Given the description of an element on the screen output the (x, y) to click on. 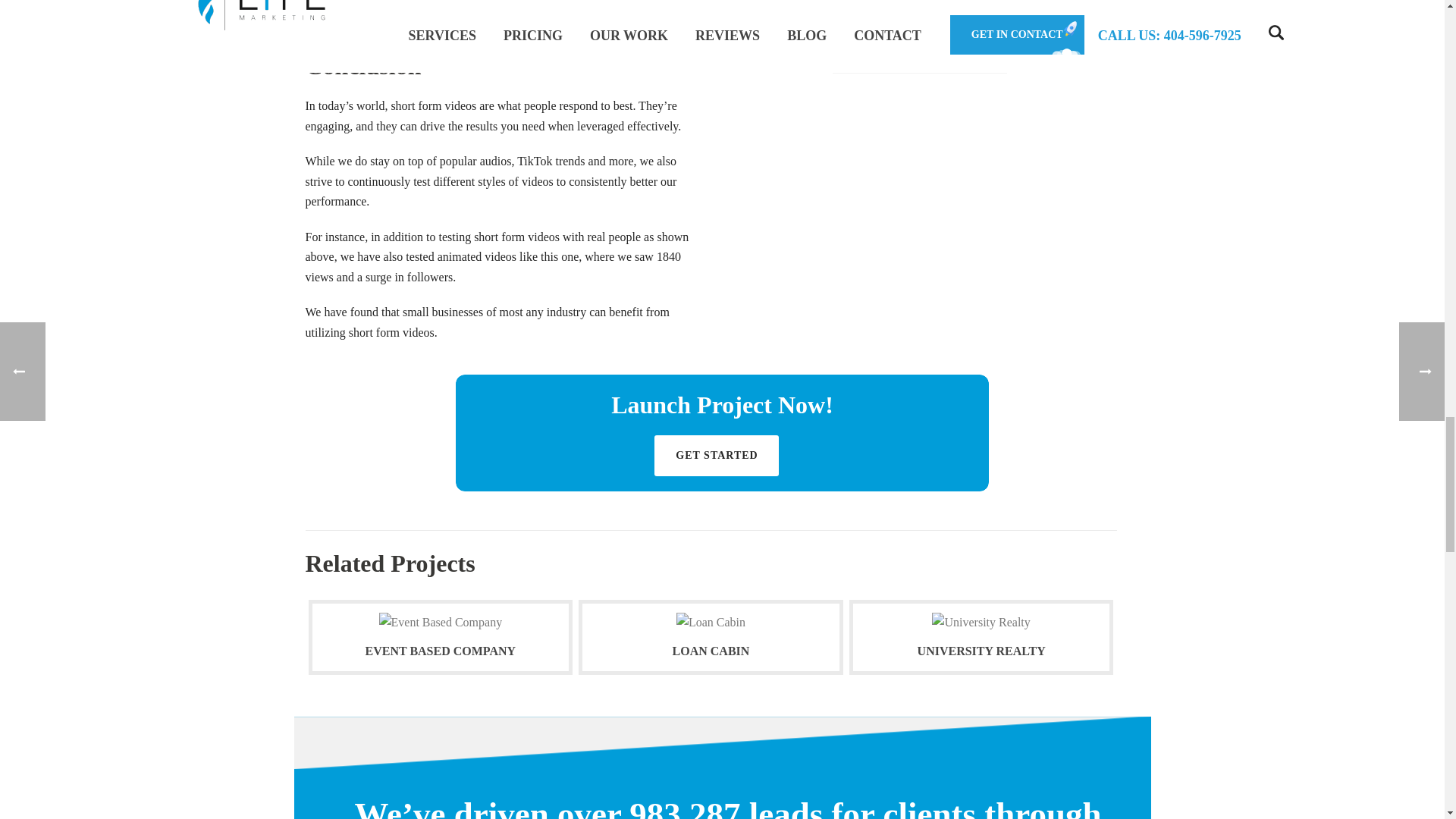
GET STARTED (715, 454)
University Realty (980, 622)
Loan Cabin (711, 622)
Event Based Company (440, 622)
